Given the description of an element on the screen output the (x, y) to click on. 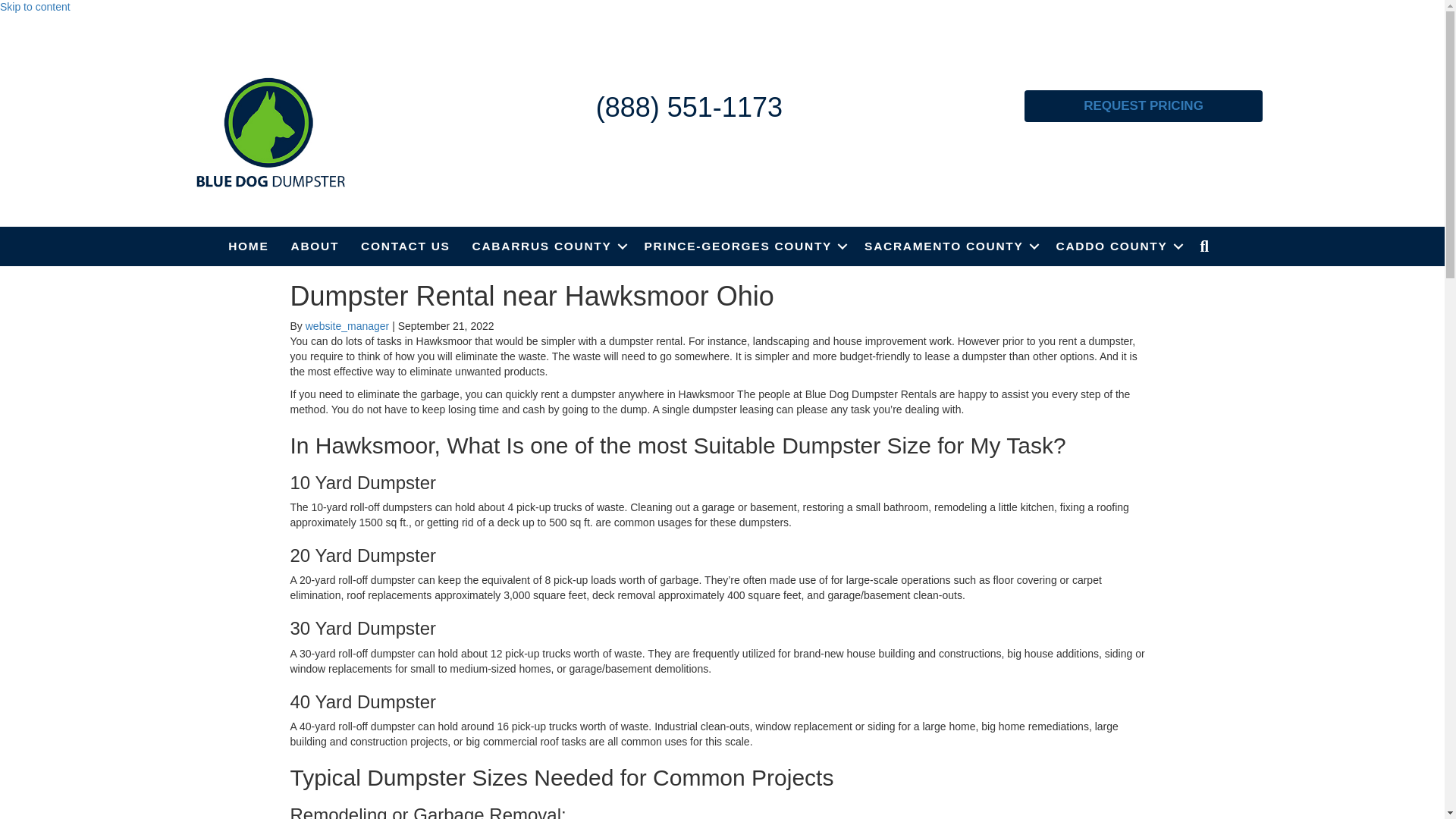
CONTACT US (405, 246)
SACRAMENTO COUNTY (948, 246)
PRINCE-GEORGES COUNTY (743, 246)
ABOUT (315, 246)
bluedogdumpster (269, 131)
Skip to content (34, 6)
HOME (247, 246)
CABARRUS COUNTY (547, 246)
REQUEST PRICING (1144, 106)
